Given the description of an element on the screen output the (x, y) to click on. 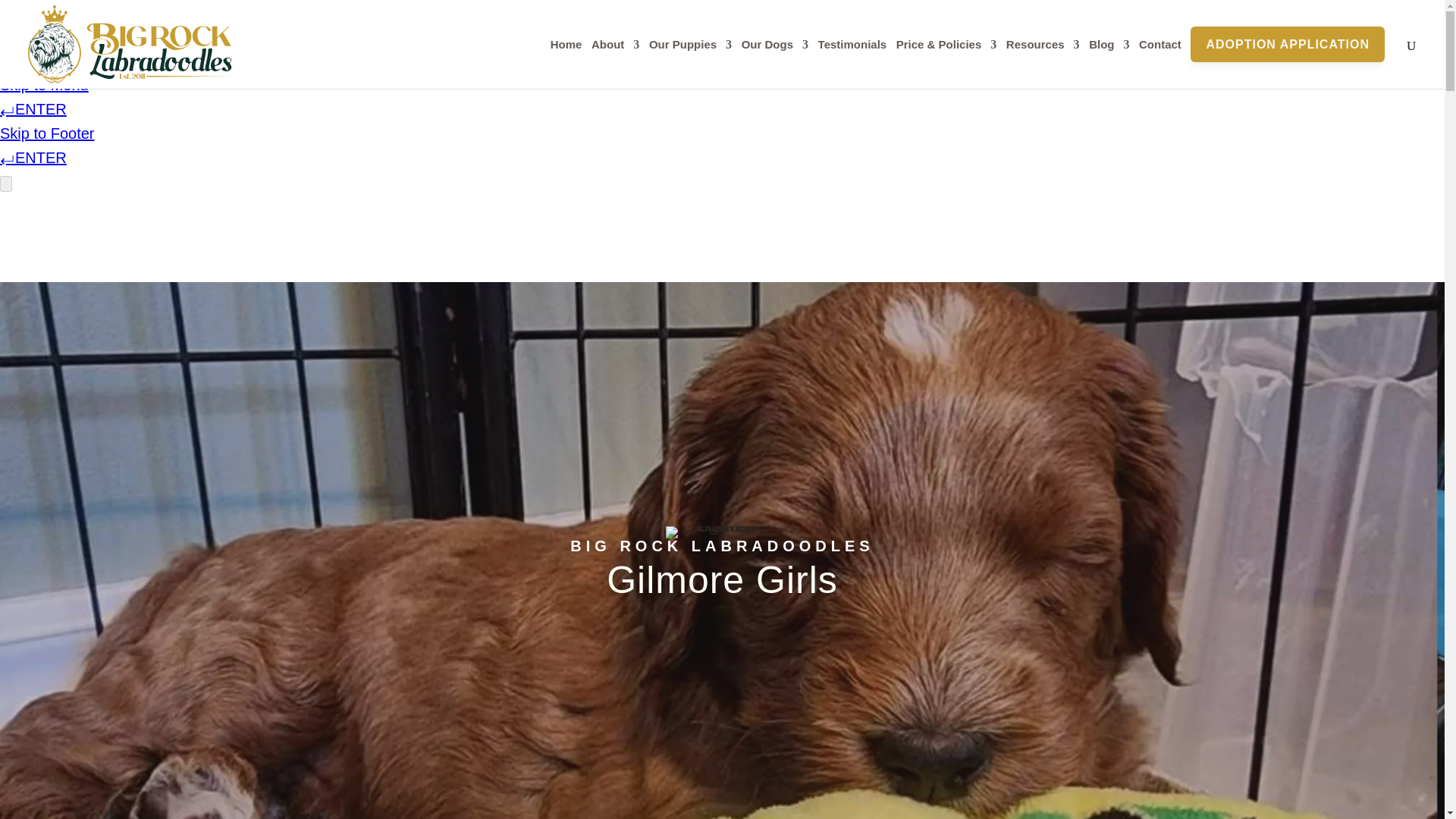
Resources (1043, 61)
Our Dogs (774, 61)
Our Puppies (690, 61)
Big Rock Labradoodles (721, 532)
Testimonials (852, 61)
